Given the description of an element on the screen output the (x, y) to click on. 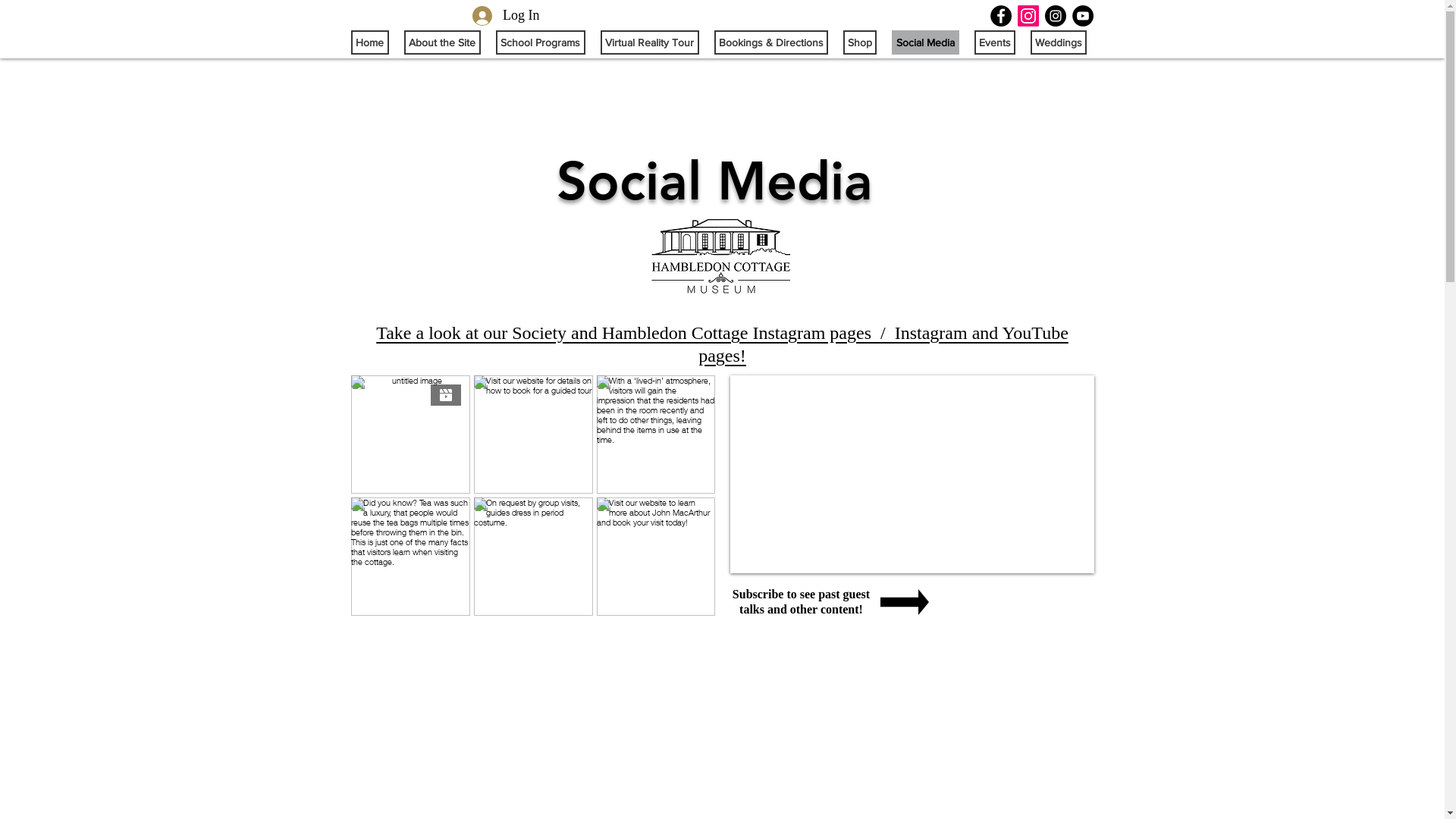
School Programs Element type: text (540, 42)
Log In Element type: text (505, 15)
Events Element type: text (993, 42)
Home Element type: text (369, 42)
Shop Element type: text (859, 42)
Virtual Reality Tour Element type: text (649, 42)
Bookings & Directions Element type: text (771, 42)
About the Site Element type: text (441, 42)
Instagram Feeds Element type: hover (532, 495)
Weddings Element type: text (1057, 42)
Social Media Element type: text (925, 42)
